Given the description of an element on the screen output the (x, y) to click on. 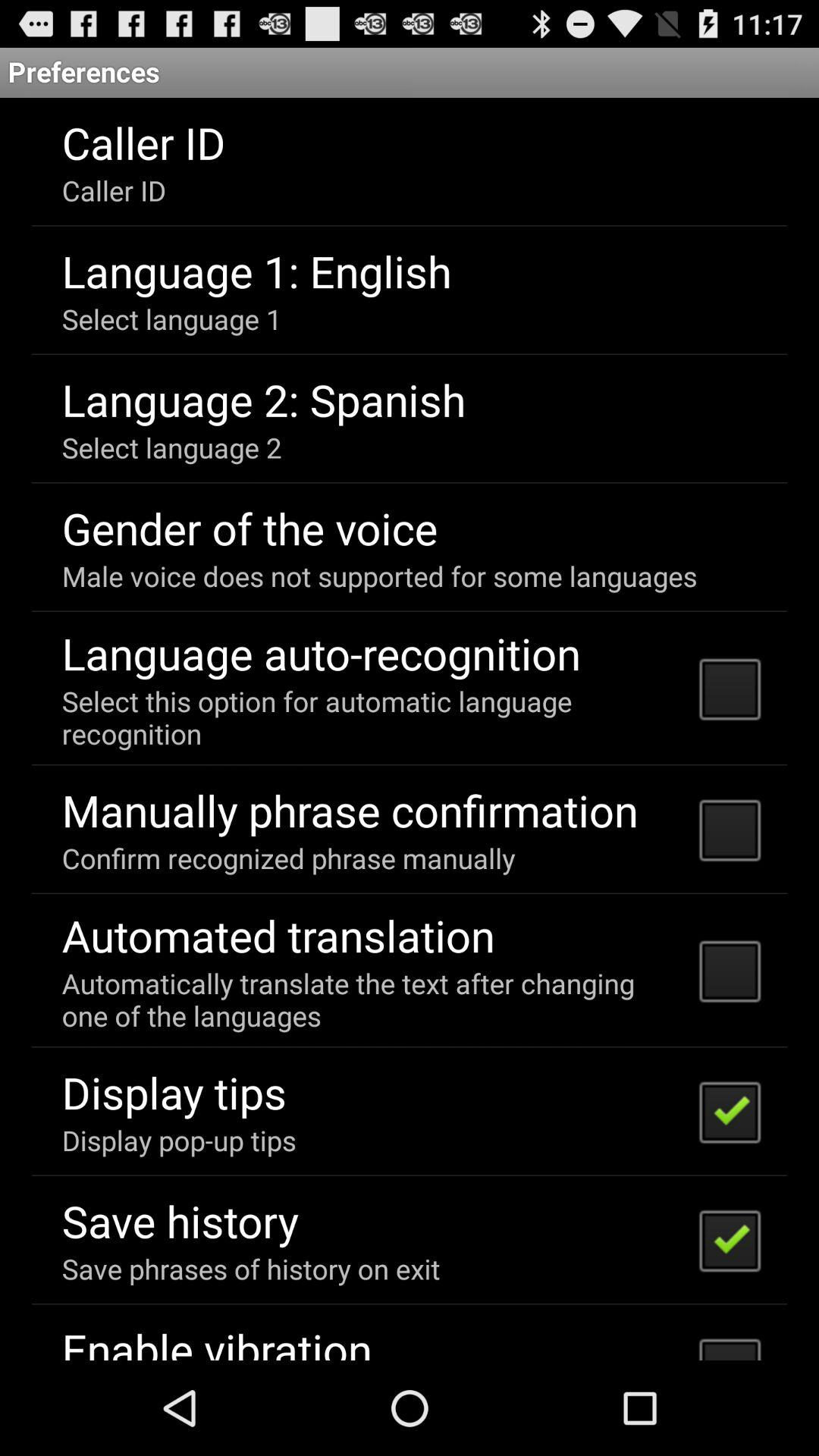
turn off the icon above automated translation icon (288, 858)
